Given the description of an element on the screen output the (x, y) to click on. 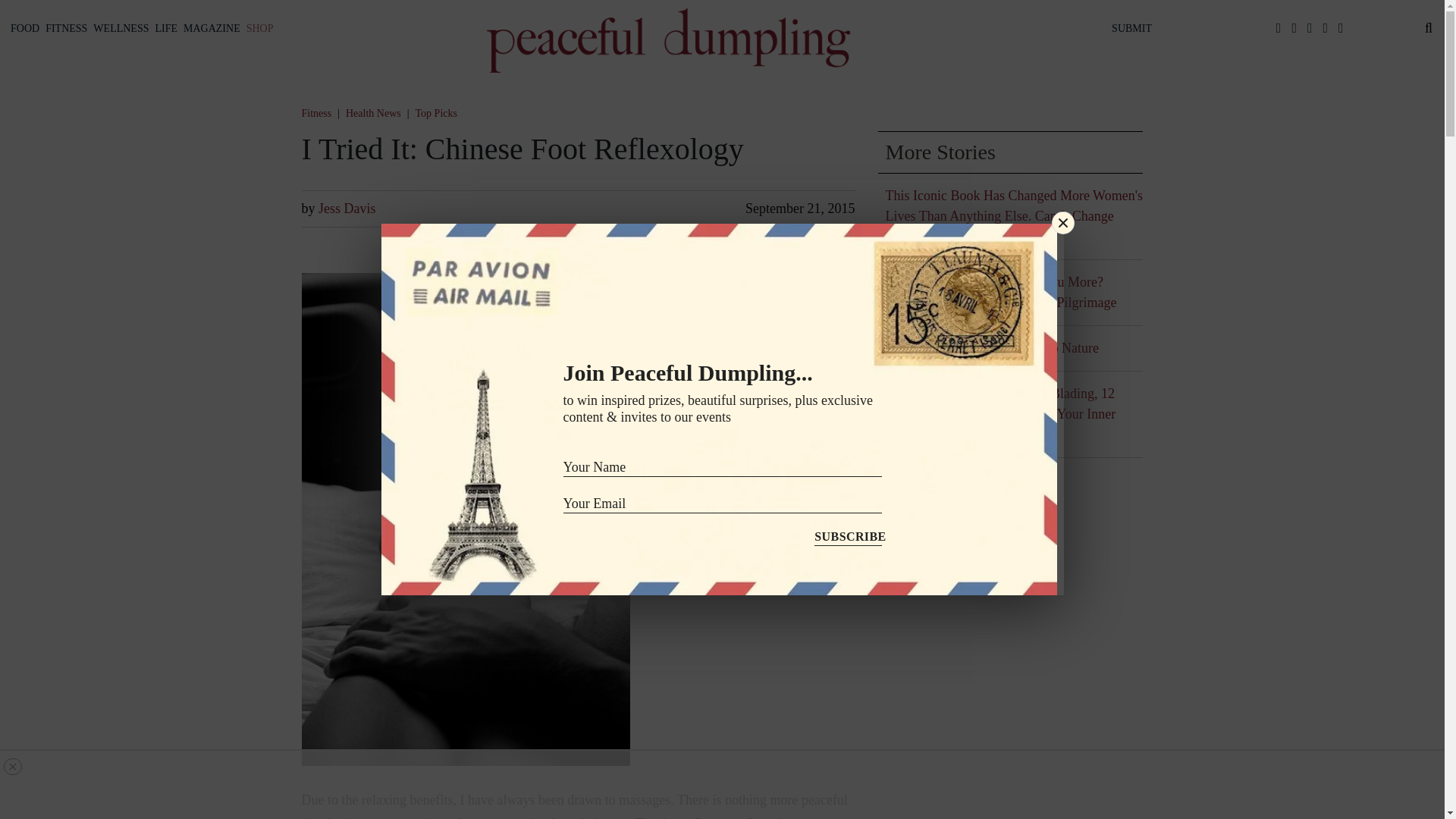
FITNESS (66, 28)
LIFE (165, 28)
Close (1063, 222)
WELLNESS (120, 28)
FOOD (24, 28)
SUBSCRIBE (846, 533)
